Given the description of an element on the screen output the (x, y) to click on. 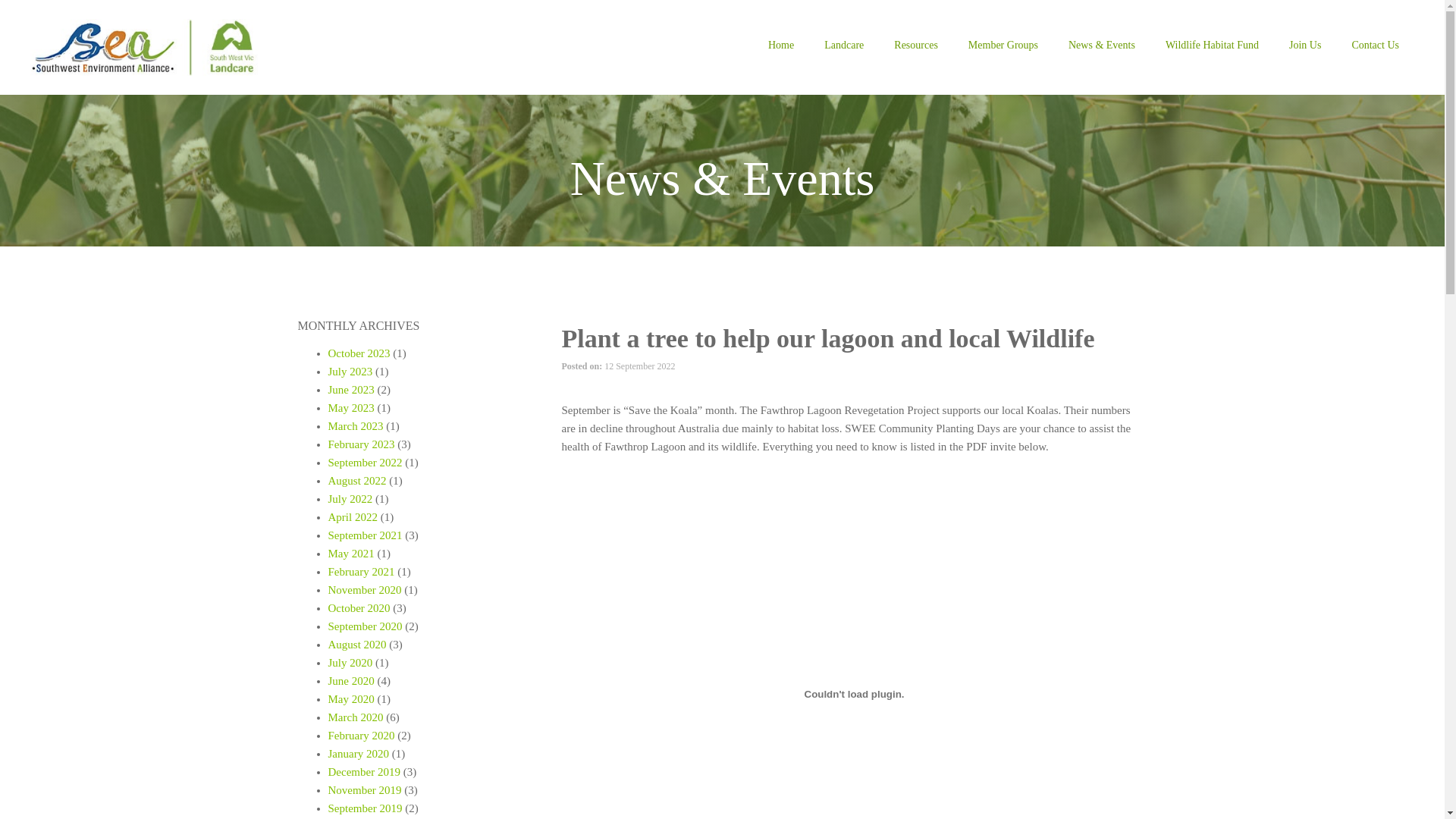
May 2021 Element type: text (350, 553)
January 2020 Element type: text (357, 753)
March 2023 Element type: text (354, 426)
October 2020 Element type: text (358, 608)
September 2020 Element type: text (364, 626)
Resources Element type: text (915, 46)
August 2022 Element type: text (356, 480)
Landcare Element type: text (843, 46)
September 2022 Element type: text (364, 462)
September 2019 Element type: text (364, 808)
June 2020 Element type: text (350, 680)
News & Events Element type: text (1101, 46)
Contact Us Element type: text (1375, 46)
February 2023 Element type: text (360, 444)
July 2022 Element type: text (349, 498)
November 2019 Element type: text (364, 790)
September 2021 Element type: text (364, 535)
Member Groups Element type: text (1003, 46)
Join Us Element type: text (1305, 46)
February 2020 Element type: text (360, 735)
October 2023 Element type: text (358, 353)
March 2020 Element type: text (354, 717)
December 2019 Element type: text (363, 771)
May 2023 Element type: text (350, 407)
Home Element type: text (781, 46)
May 2020 Element type: text (350, 699)
August 2020 Element type: text (356, 644)
Wildlife Habitat Fund Element type: text (1212, 46)
July 2023 Element type: text (349, 371)
April 2022 Element type: text (351, 517)
July 2020 Element type: text (349, 662)
February 2021 Element type: text (360, 571)
June 2023 Element type: text (350, 389)
November 2020 Element type: text (364, 589)
